Given the description of an element on the screen output the (x, y) to click on. 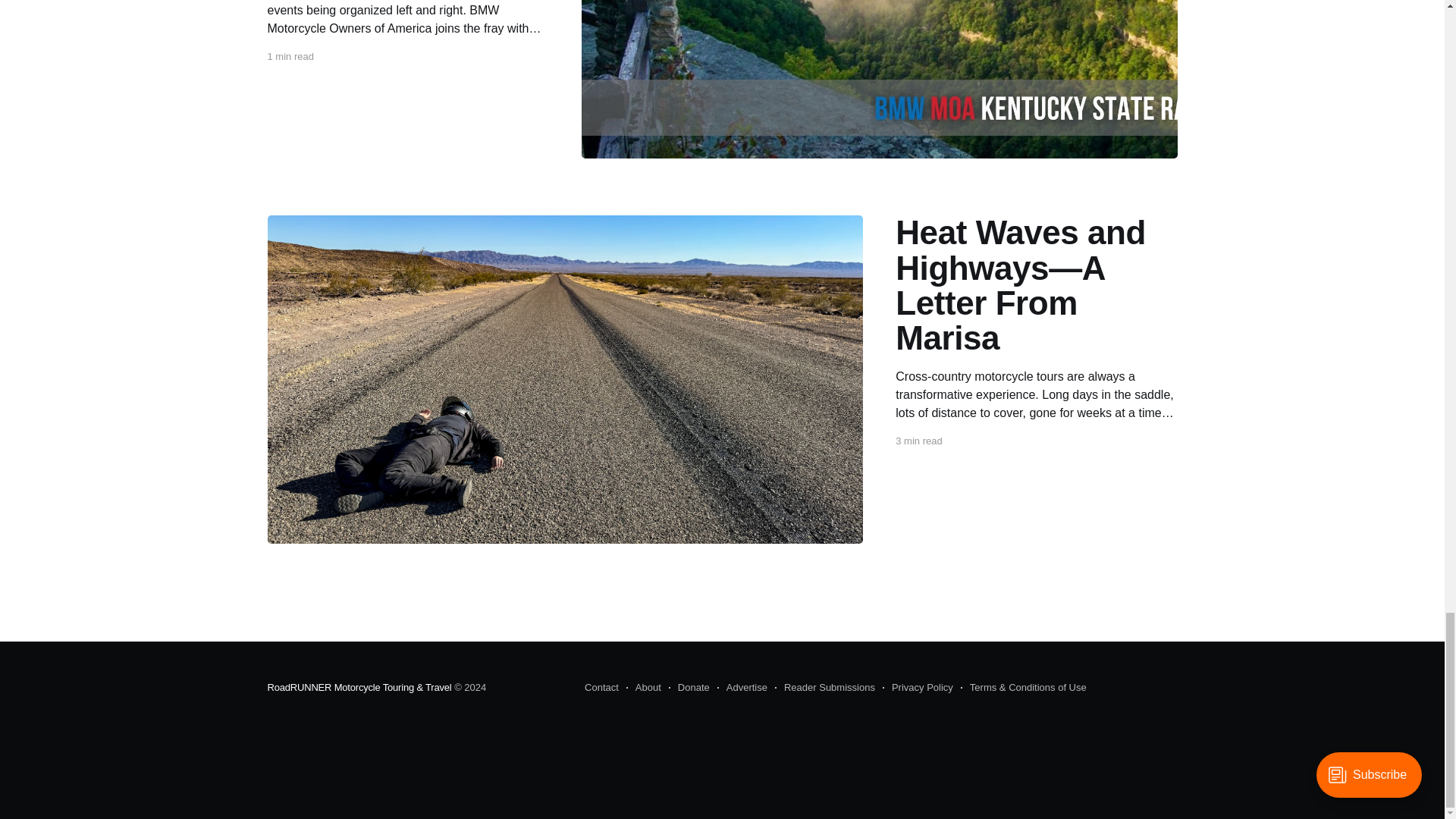
Reader Submissions (824, 687)
Advertise (742, 687)
Contact (601, 687)
About (643, 687)
Privacy Policy (917, 687)
Donate (689, 687)
